Given the description of an element on the screen output the (x, y) to click on. 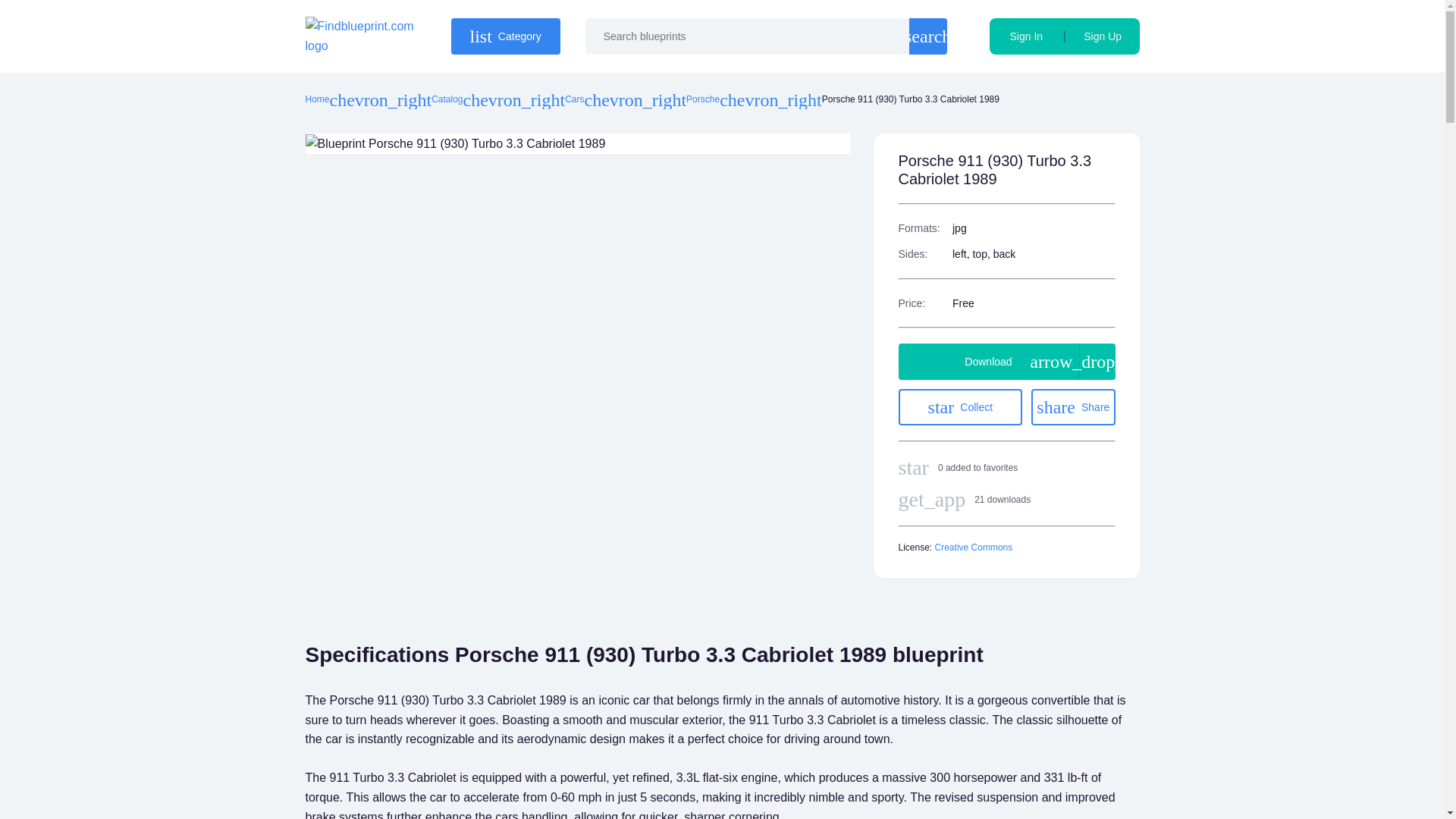
Home (960, 407)
Creative Commons (316, 99)
Porsche (973, 547)
Sign Up (702, 99)
Catalog (1102, 36)
Sign In (446, 99)
Cars (1026, 36)
search (504, 36)
